Given the description of an element on the screen output the (x, y) to click on. 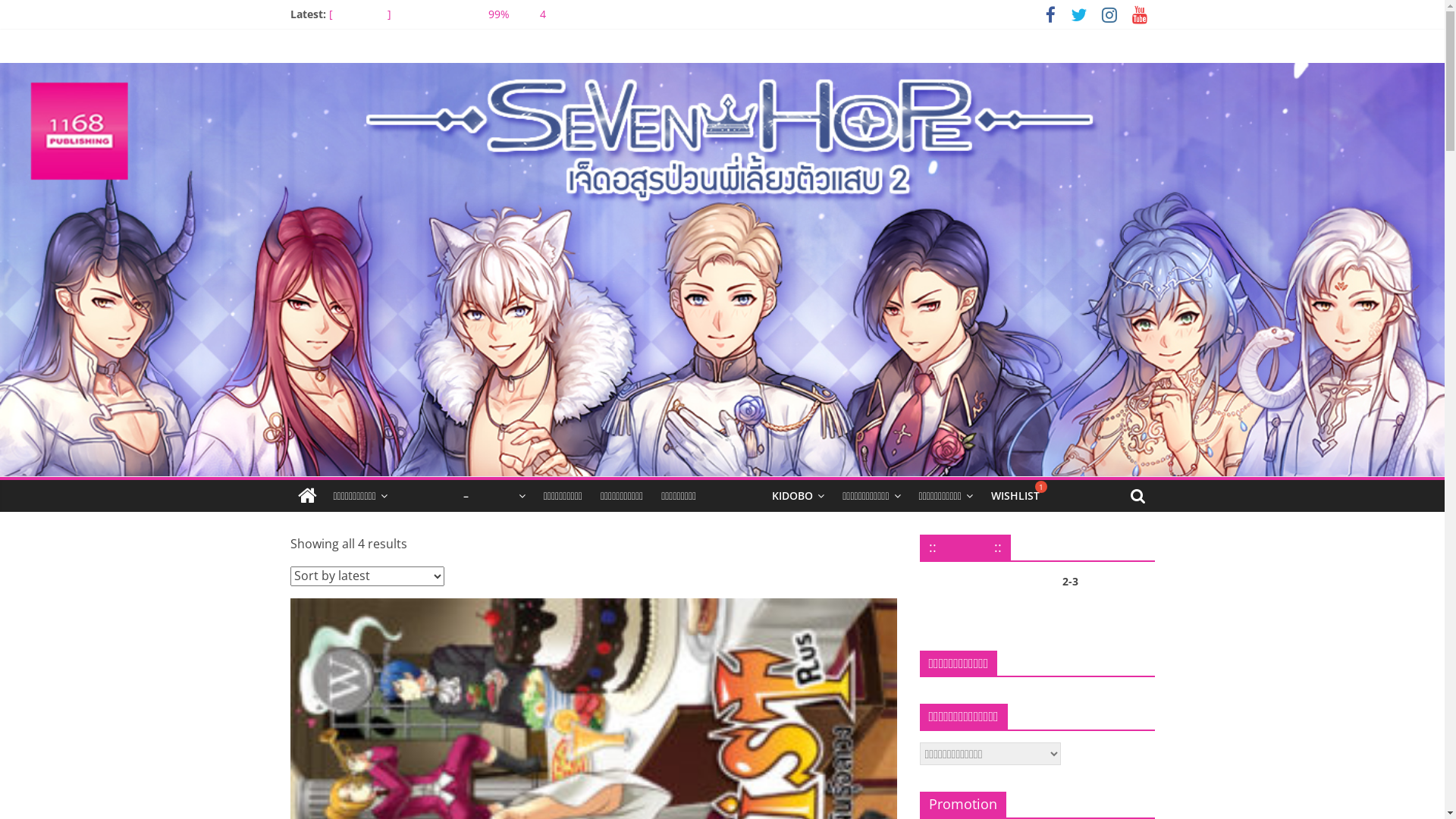
1168 PUBLISHING Element type: text (391, 84)
1168 PUBLISHING Element type: hover (306, 495)
WISHLIST Element type: text (1015, 495)
